Given the description of an element on the screen output the (x, y) to click on. 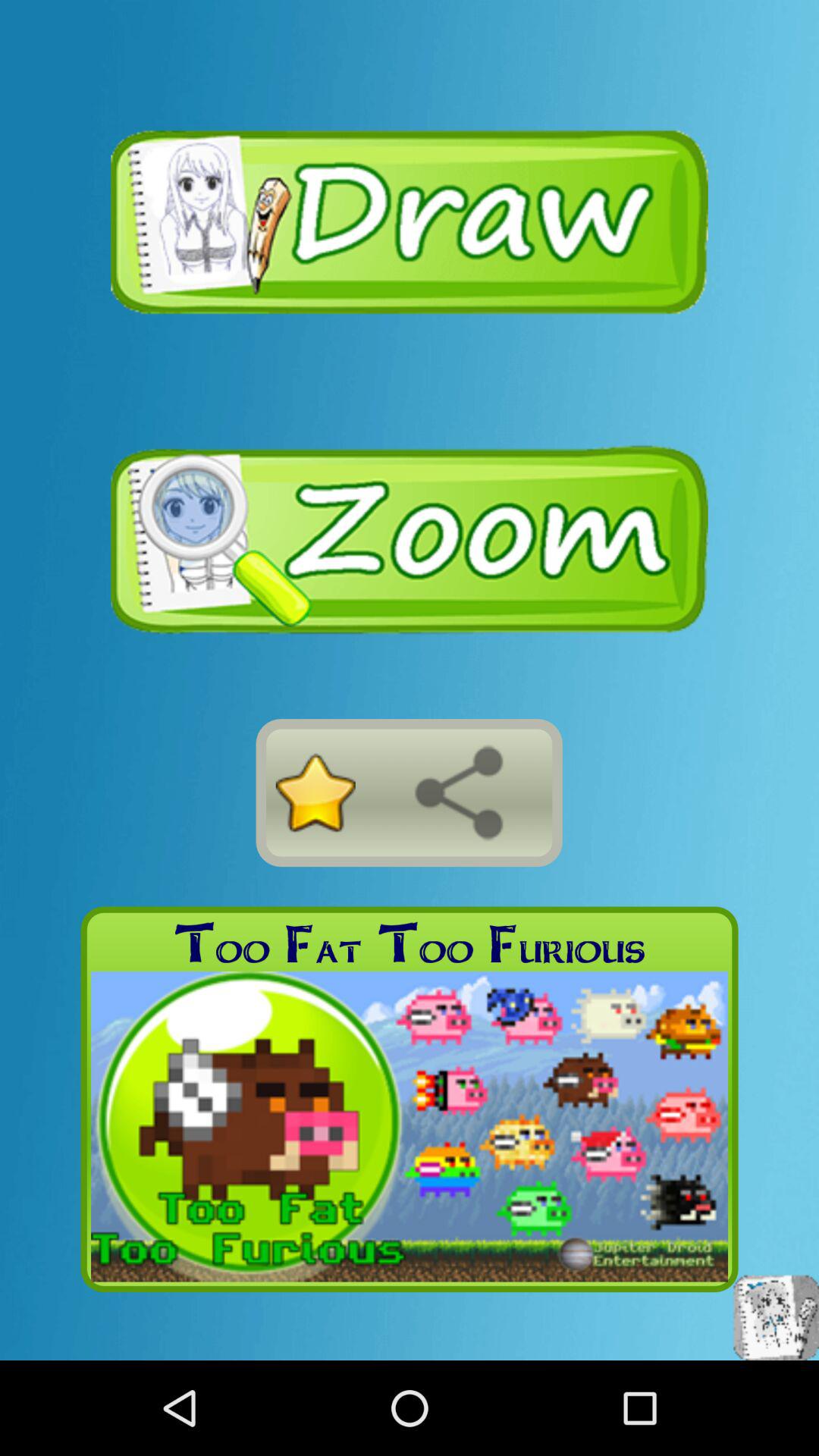
select the icon above too fat too app (315, 792)
